Given the description of an element on the screen output the (x, y) to click on. 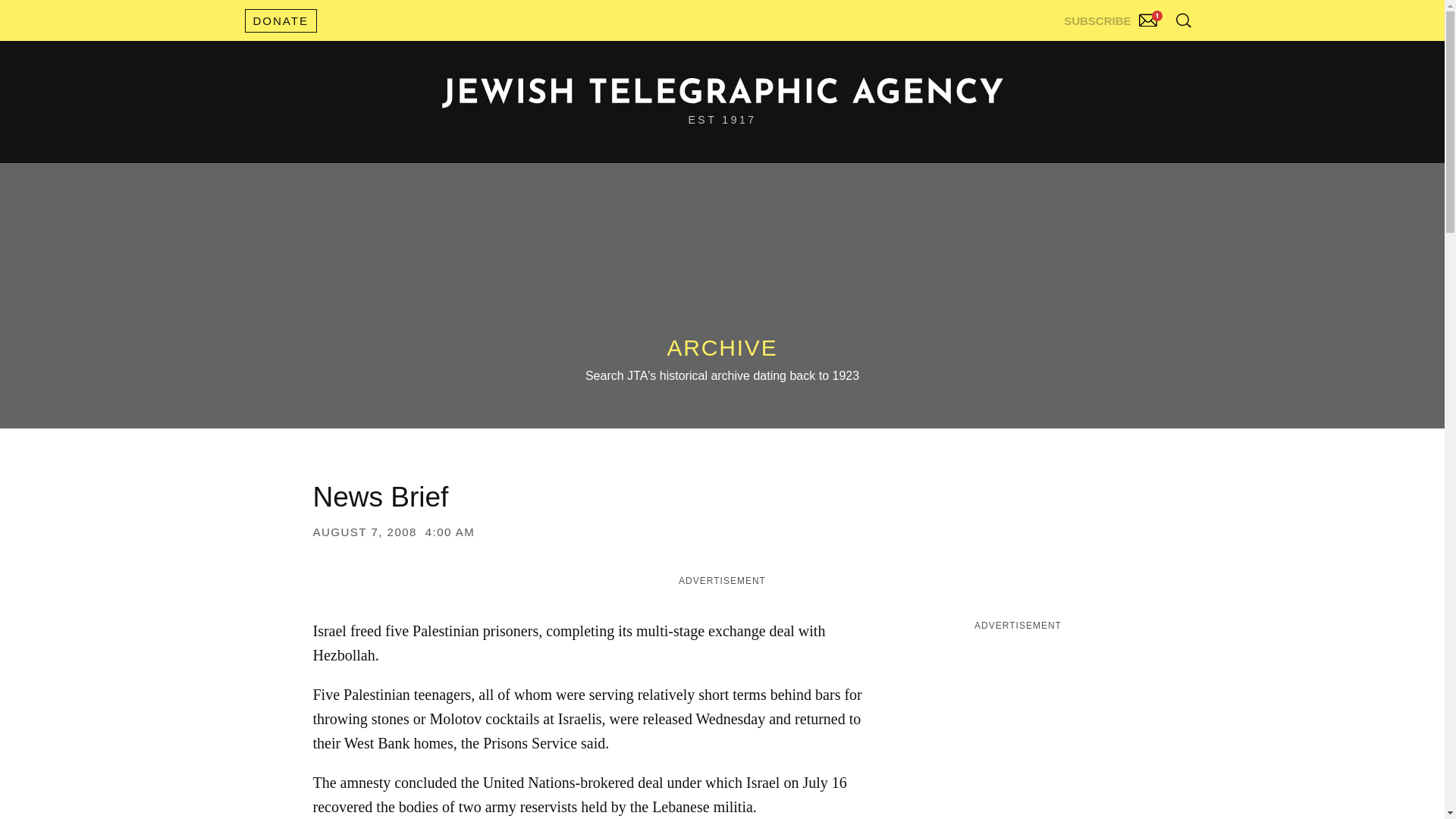
SEARCH TOGGLESEARCH TOGGLE (1182, 20)
Search (1144, 53)
SUBSCRIBE (1112, 17)
DONATE (279, 20)
